Given the description of an element on the screen output the (x, y) to click on. 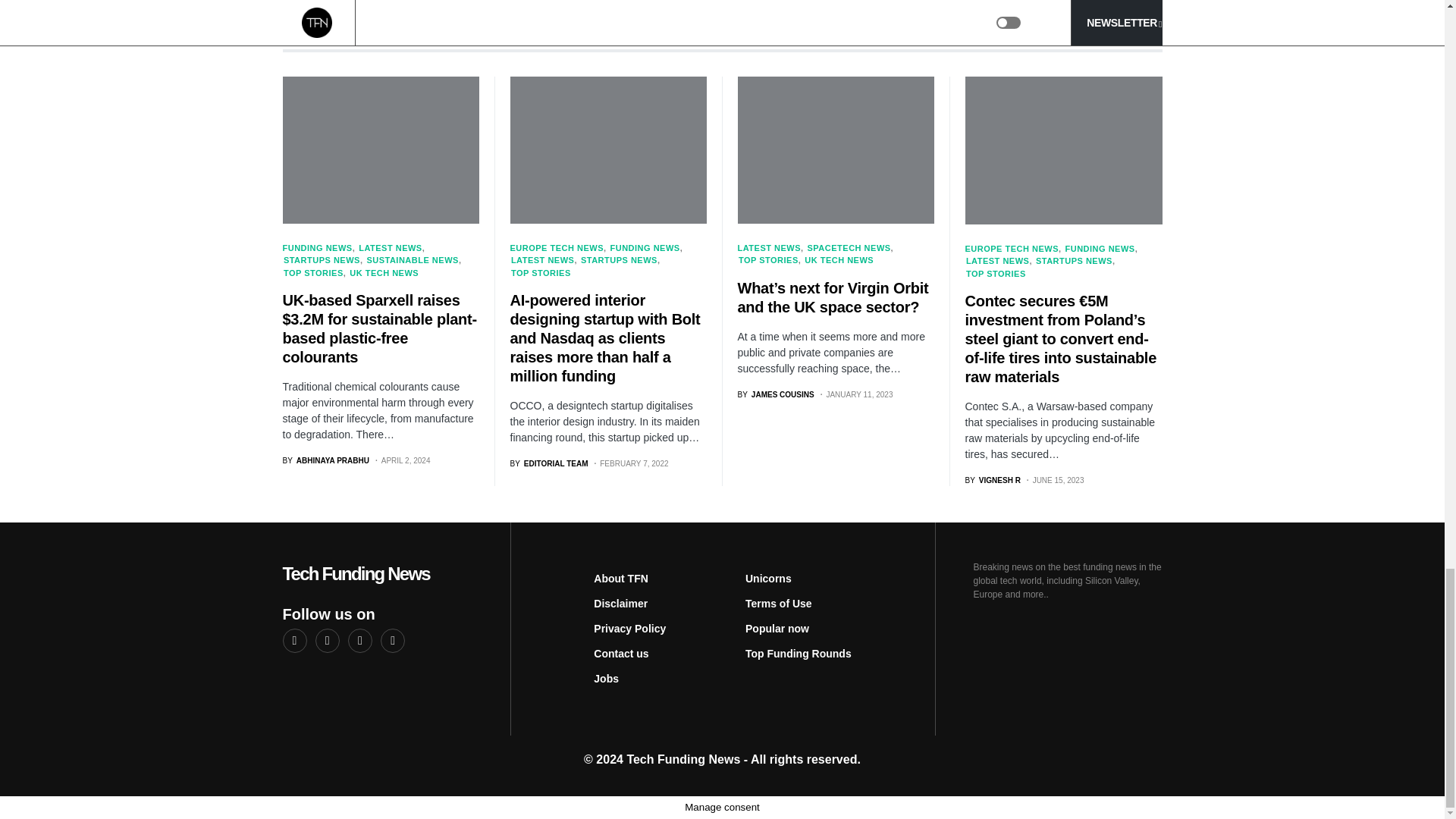
View all posts by James Cousins (774, 394)
View all posts by Editorial Team (548, 463)
View all posts by Vignesh R (991, 480)
View all posts by Abhinaya Prabhu (325, 460)
